Given the description of an element on the screen output the (x, y) to click on. 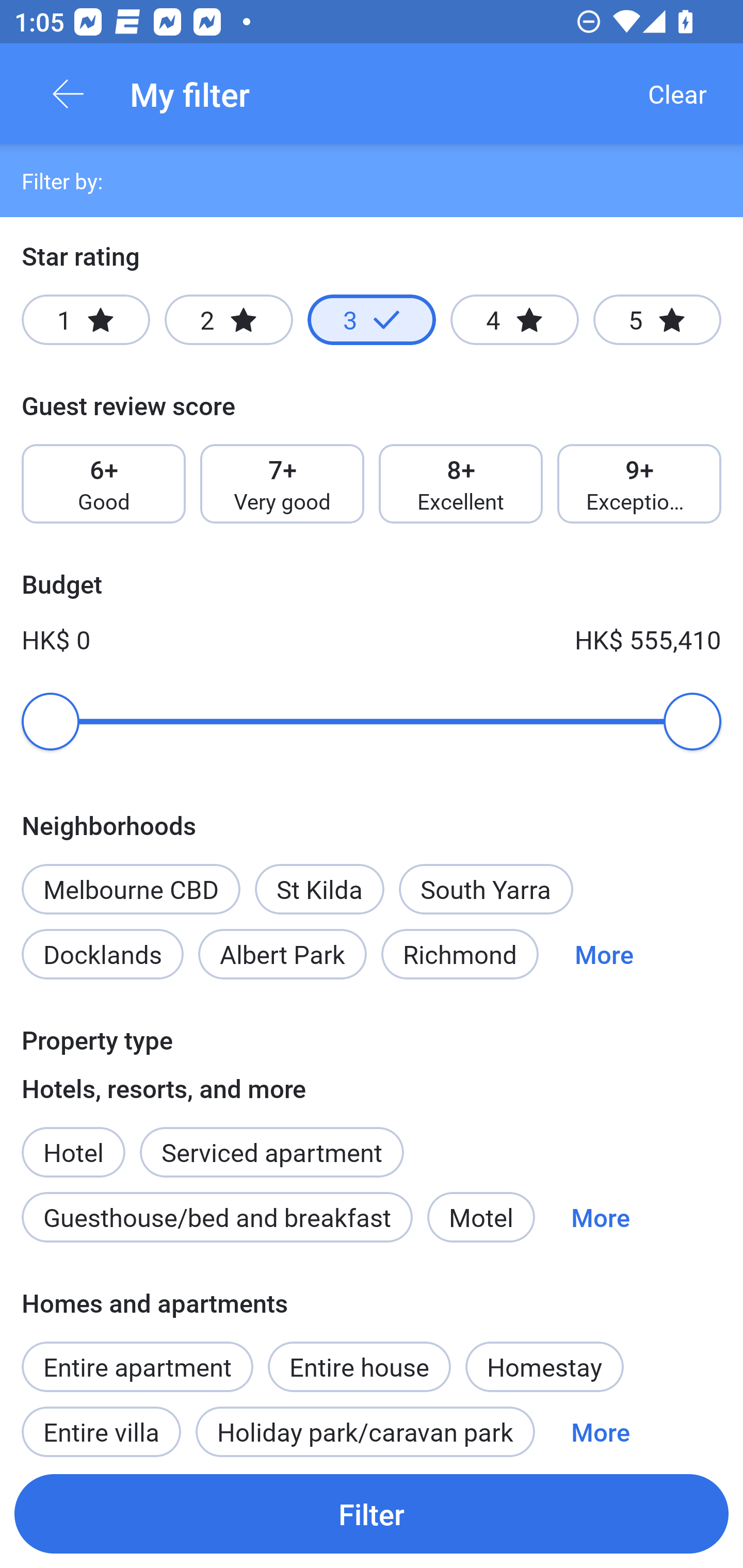
Clear (676, 93)
1 (85, 319)
2 (228, 319)
4 (514, 319)
5 (657, 319)
6+ Good (103, 483)
7+ Very good (281, 483)
8+ Excellent (460, 483)
9+ Exceptional (639, 483)
Melbourne CBD (130, 888)
St Kilda (319, 888)
South Yarra (485, 888)
Docklands (102, 954)
Albert Park (282, 954)
Richmond (459, 954)
More (603, 954)
Hotel (73, 1141)
Serviced apartment (271, 1141)
Guesthouse/bed and breakfast (217, 1217)
Motel (480, 1217)
More (600, 1217)
Entire apartment (137, 1366)
Entire house (359, 1356)
Homestay (544, 1366)
Entire villa (101, 1424)
Holiday park/caravan park (364, 1424)
More (600, 1424)
Filter (371, 1513)
